Given the description of an element on the screen output the (x, y) to click on. 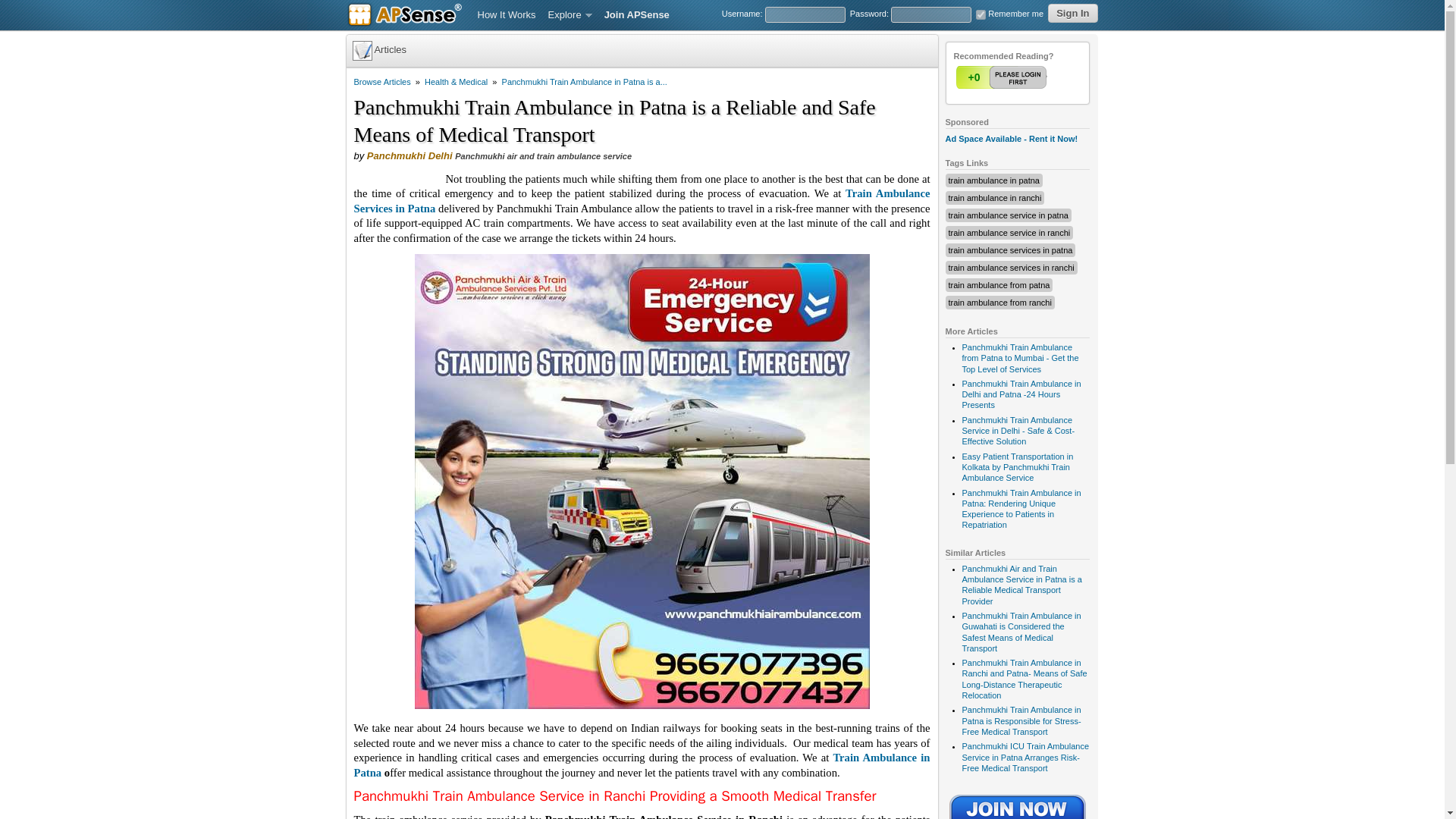
Train Ambulance in Patna (641, 764)
train ambulance in ranchi (994, 197)
train ambulance services in patna (1009, 249)
train ambulance service in patna (1007, 215)
Browse Articles (381, 81)
Vote Down (1031, 77)
Panchmukhi Train Ambulance in Patna is a... (584, 81)
-1 (1031, 77)
How It Works (506, 15)
train ambulance services in ranchi (1010, 266)
